Given the description of an element on the screen output the (x, y) to click on. 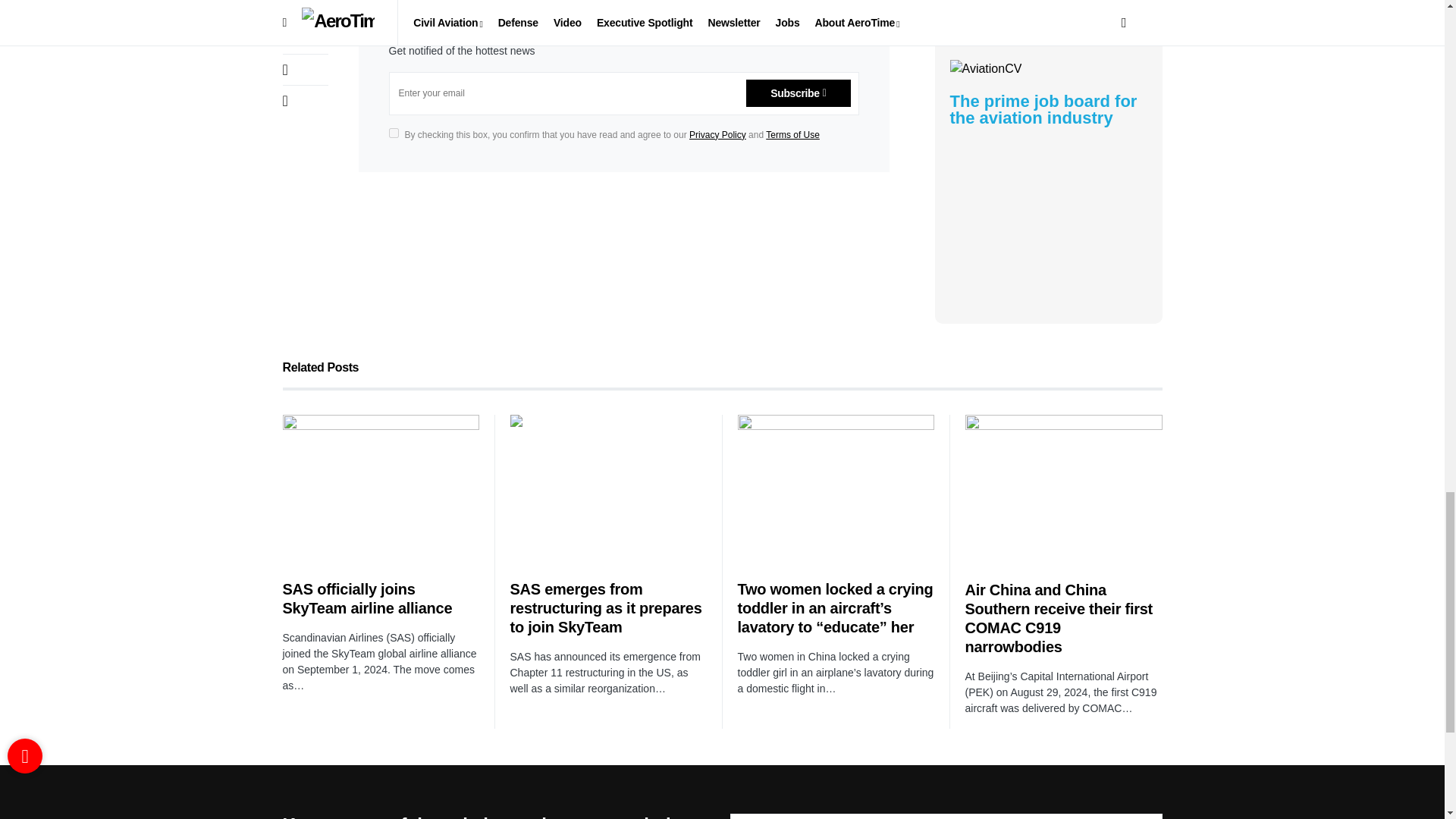
SAS officially joins SkyTeam airline alliance (380, 487)
on (392, 132)
